Given the description of an element on the screen output the (x, y) to click on. 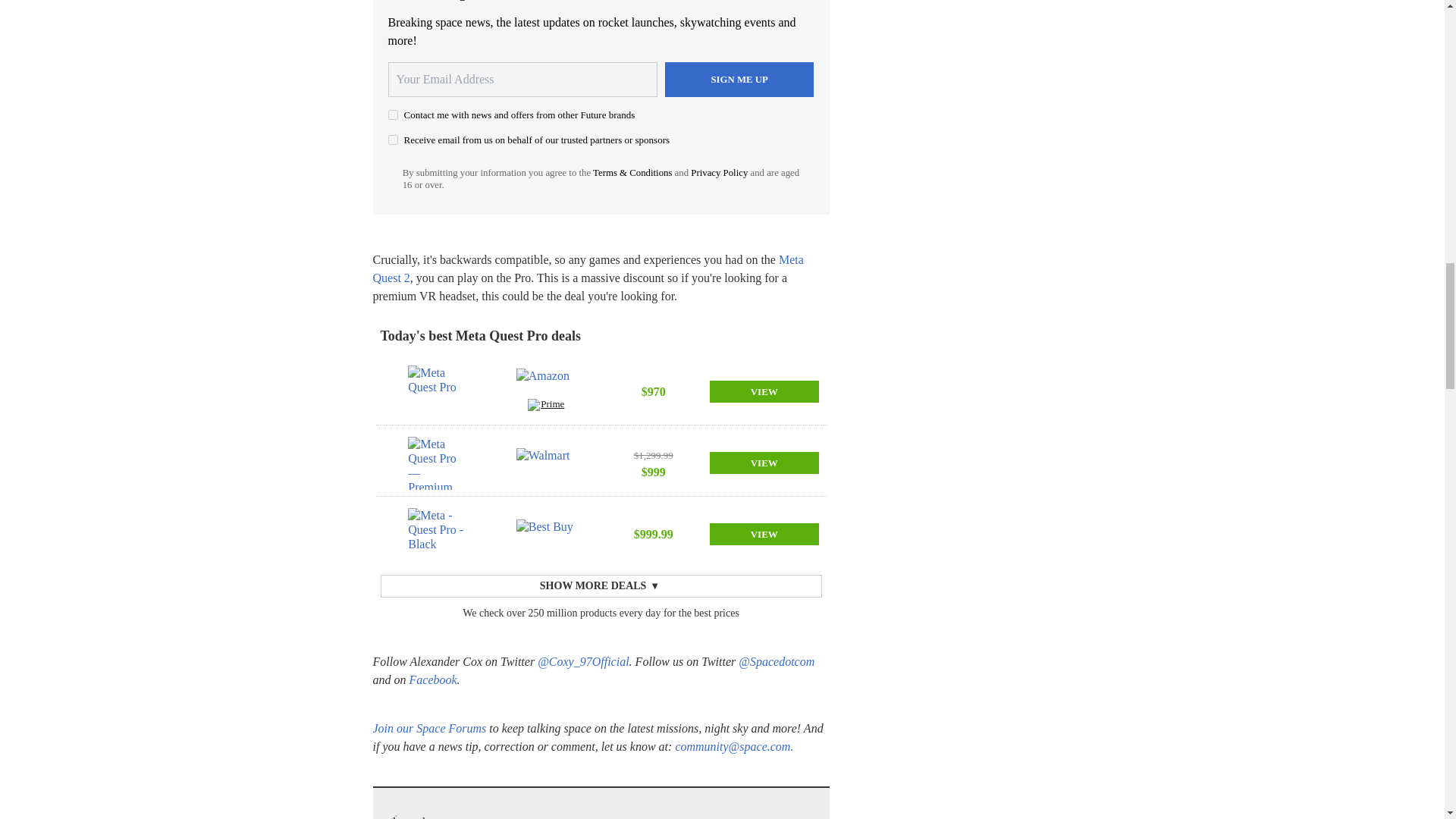
Best Buy (546, 534)
Meta - Quest Pro - Black (437, 534)
Meta Quest Pro (437, 391)
on (392, 114)
Prime (546, 406)
Sign me up (739, 79)
Walmart (546, 462)
on (392, 139)
Amazon (546, 383)
